Given the description of an element on the screen output the (x, y) to click on. 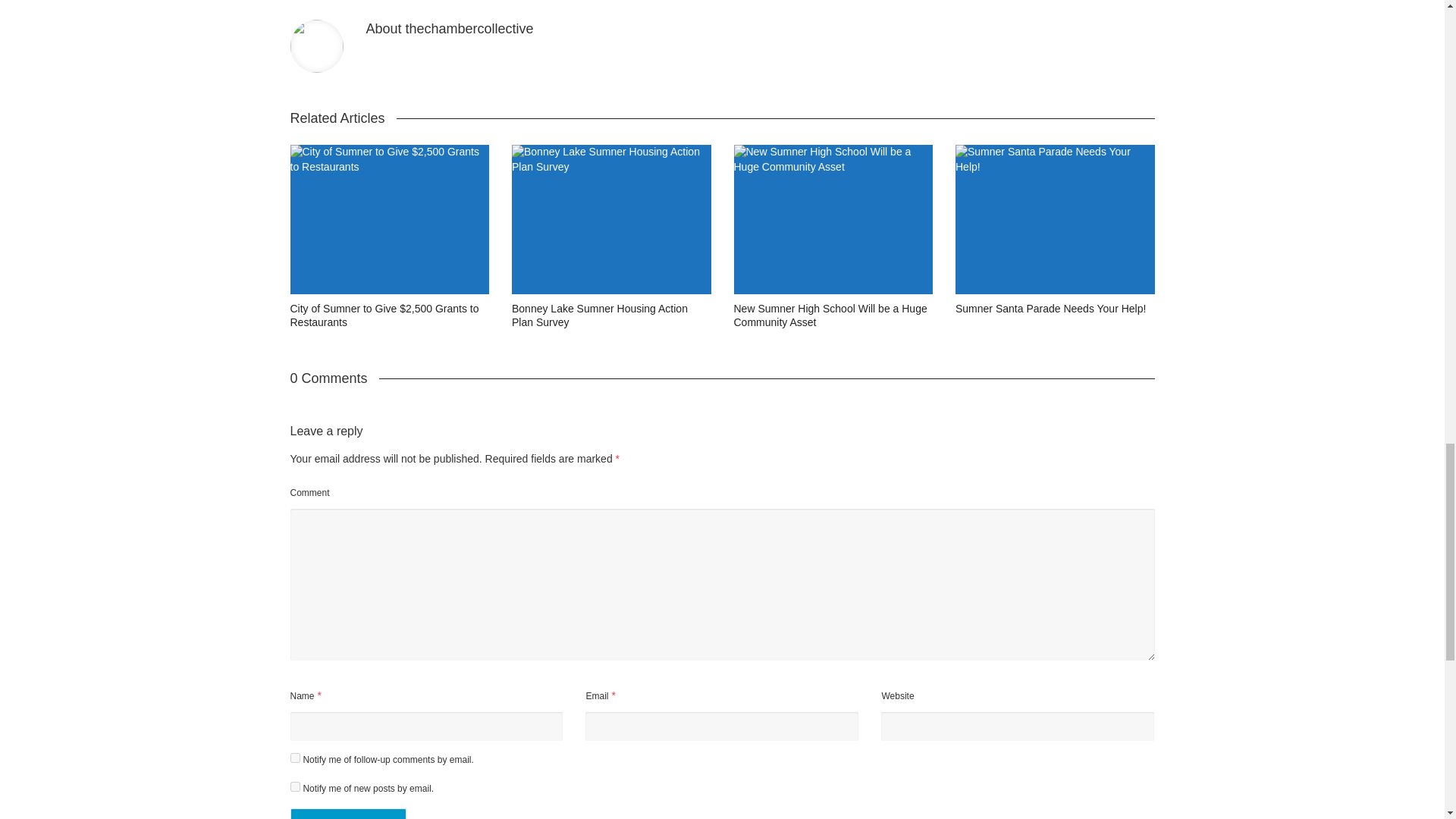
Permanent Link to Sumner Santa Parade Needs Your Help! (1050, 308)
Post comment (347, 813)
subscribe (294, 786)
subscribe (294, 757)
